Given the description of an element on the screen output the (x, y) to click on. 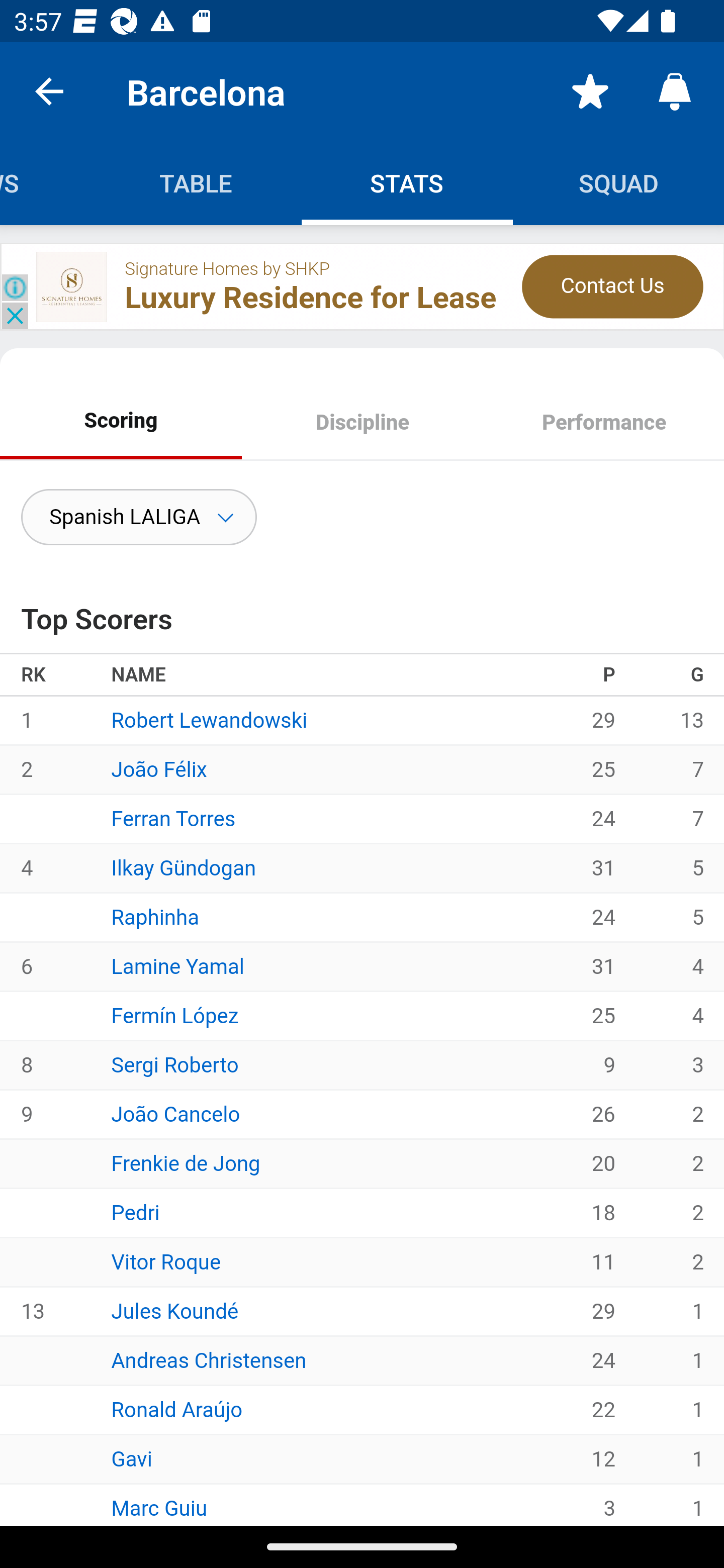
back.button (49, 90)
Favorite toggle (590, 90)
Alerts (674, 90)
Table TABLE (195, 183)
Squad SQUAD (618, 183)
Scoring (121, 420)
Discipline (362, 423)
Performance (603, 423)
Spanish LALIGA (138, 517)
Robert Lewandowski (208, 720)
João Félix (158, 768)
Ferran Torres (173, 818)
Ilkay Gündogan (183, 867)
Raphinha (155, 916)
Lamine Yamal (178, 966)
Fermín López (174, 1014)
Sergi Roberto (174, 1065)
João Cancelo (175, 1113)
Frenkie de Jong (185, 1163)
Pedri (135, 1212)
Vitor Roque (165, 1261)
Jules Koundé (174, 1311)
Andreas Christensen (208, 1359)
Ronald Araújo (176, 1409)
Gavi (131, 1458)
Marc Guiu (159, 1507)
